Given the description of an element on the screen output the (x, y) to click on. 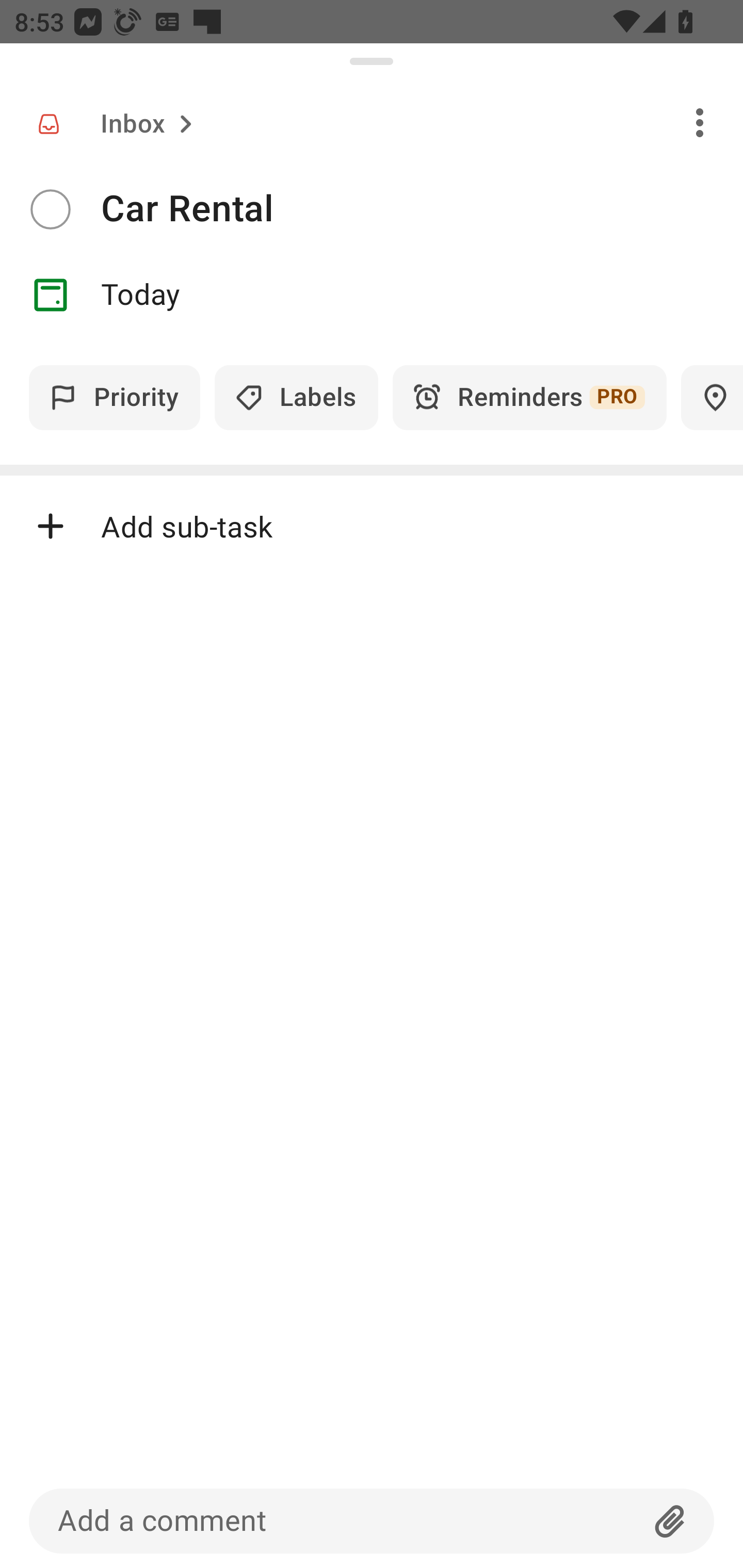
Overflow menu (699, 122)
Complete (50, 209)
Car Rental​ (422, 209)
Date Today (371, 295)
Priority (113, 397)
Labels (296, 397)
Reminders PRO (529, 397)
Locations PRO (712, 397)
Add sub-task (371, 525)
Add a comment Attachment (371, 1520)
Attachment (670, 1520)
